Given the description of an element on the screen output the (x, y) to click on. 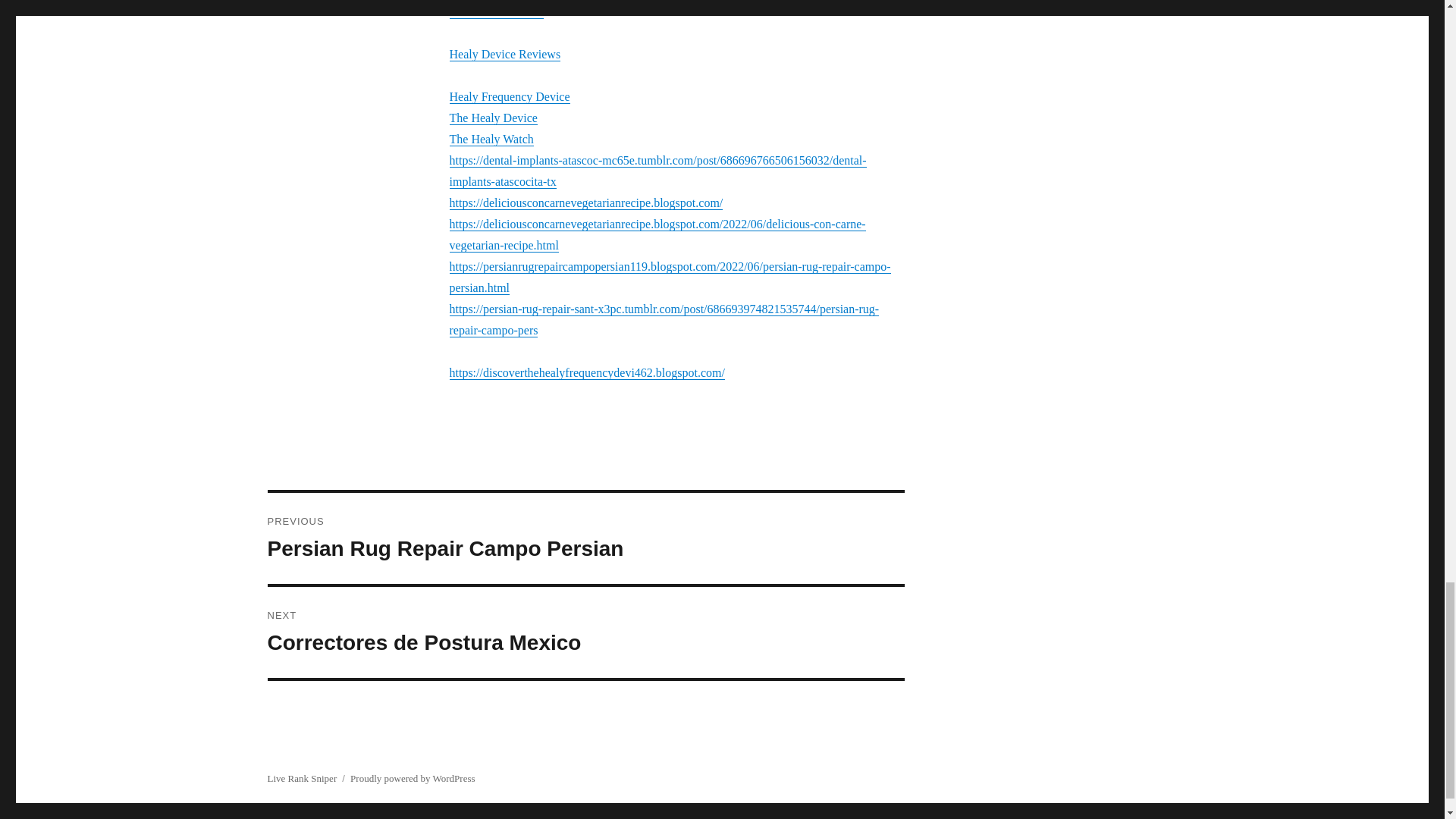
Healadvisor Search (495, 11)
Healy Device Reviews (585, 538)
Healy Frequency Device (504, 53)
The Healy Device (508, 96)
The Healy Watch (492, 117)
